Given the description of an element on the screen output the (x, y) to click on. 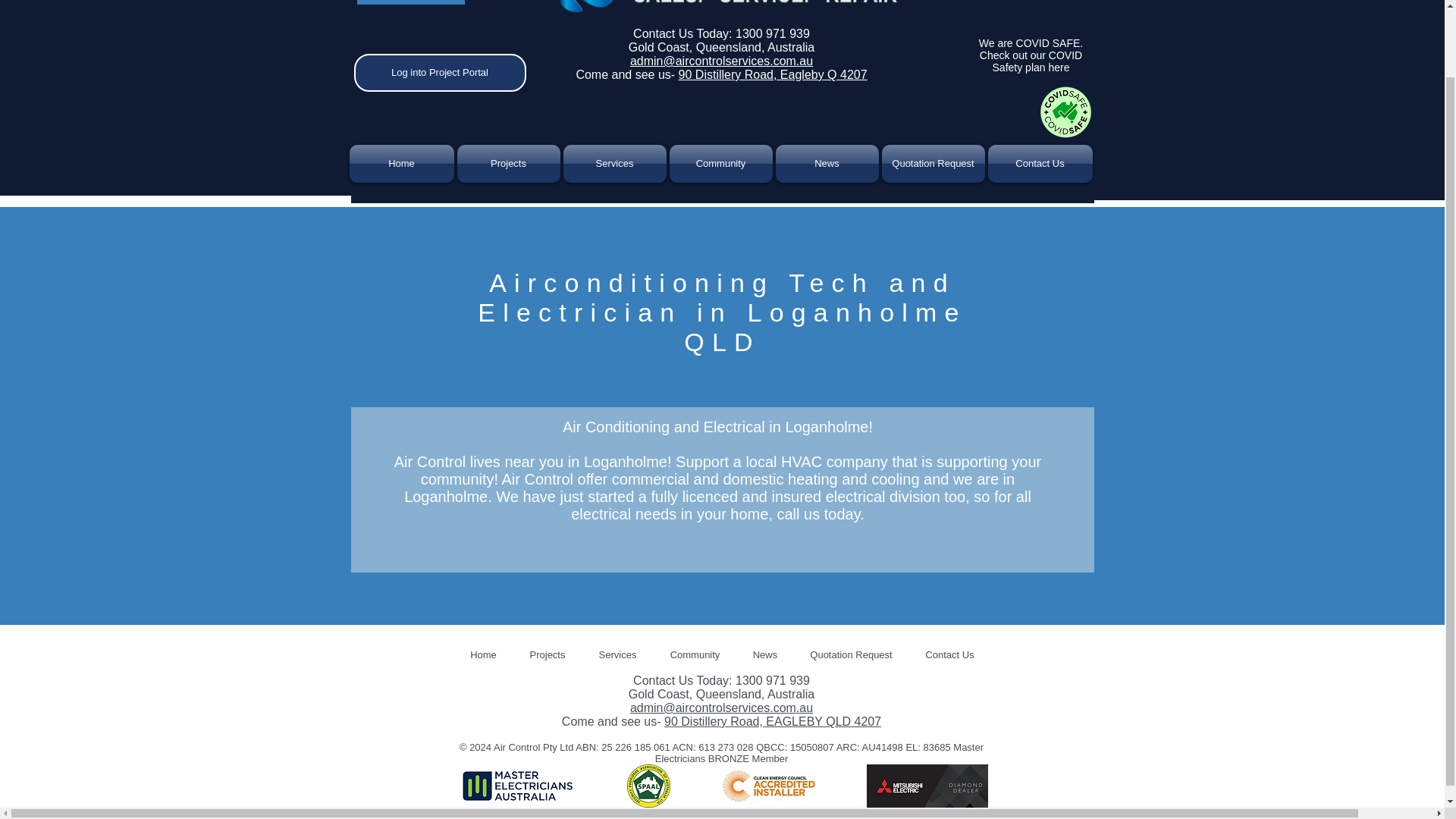
Log into Project Portal (439, 72)
Home (401, 163)
Services (617, 655)
News (826, 163)
Projects (507, 163)
90 Distillery Road, Eagleby Q 4207 (772, 74)
Contact Us (1038, 163)
Community (719, 163)
Enquire Now (410, 2)
Services (613, 163)
